Given the description of an element on the screen output the (x, y) to click on. 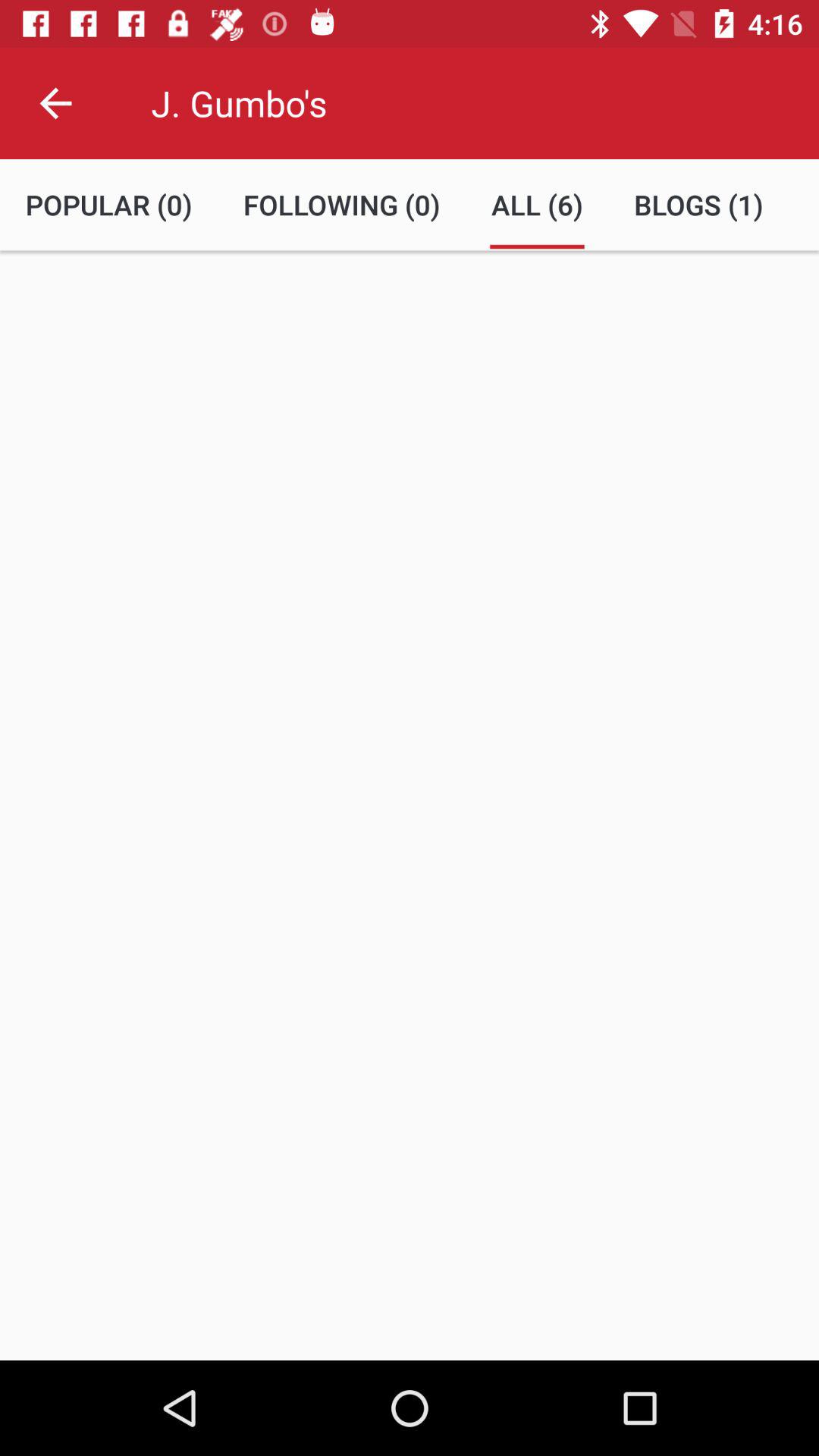
turn off icon to the right of the all (6) item (698, 204)
